Given the description of an element on the screen output the (x, y) to click on. 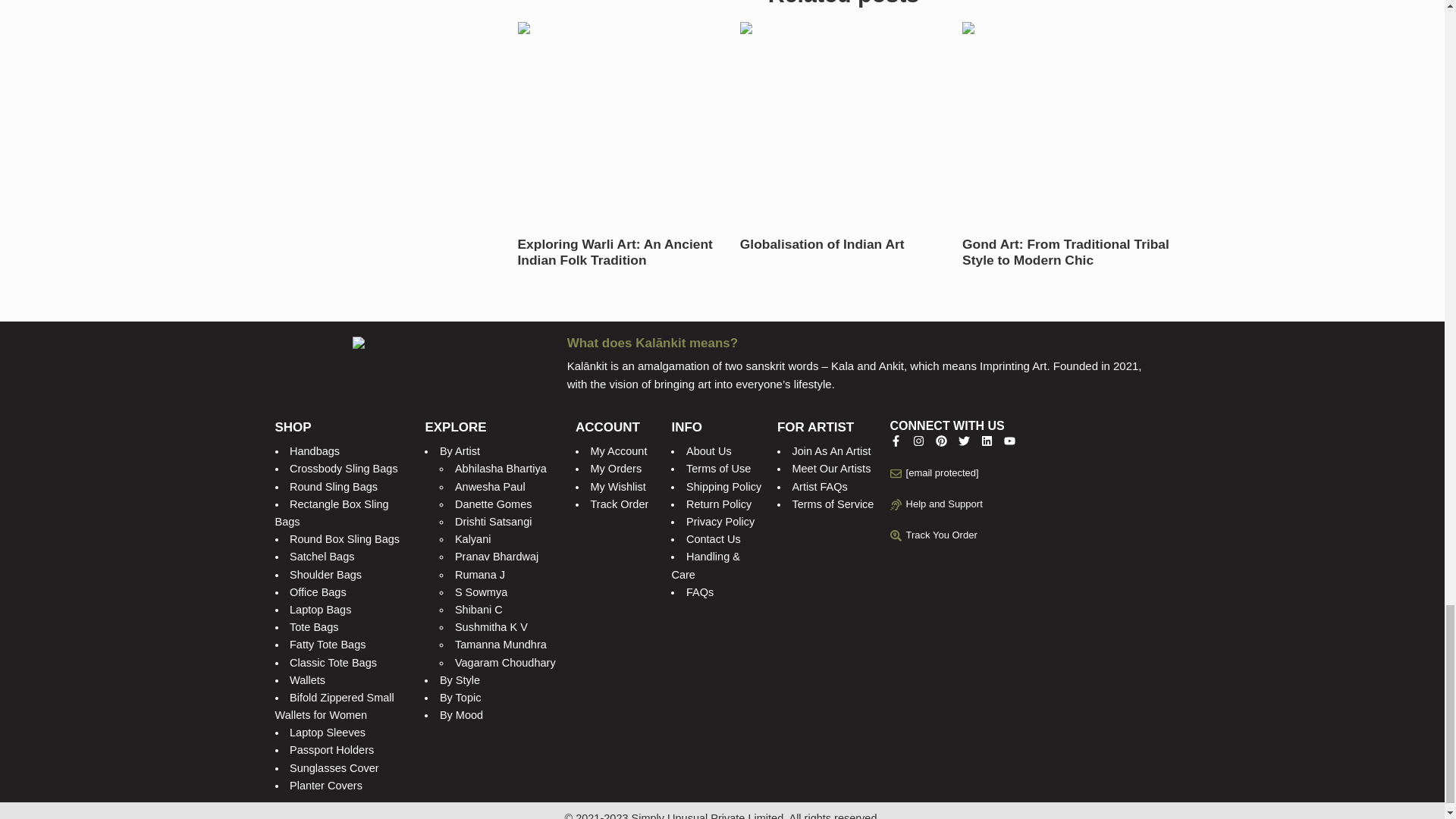
Globalisation of Indian Art (821, 244)
Exploring Warli Art: An Ancient Indian Folk Tradition (619, 252)
Gond Art: From Traditional Tribal Style to Modern Chic (1065, 252)
